Given the description of an element on the screen output the (x, y) to click on. 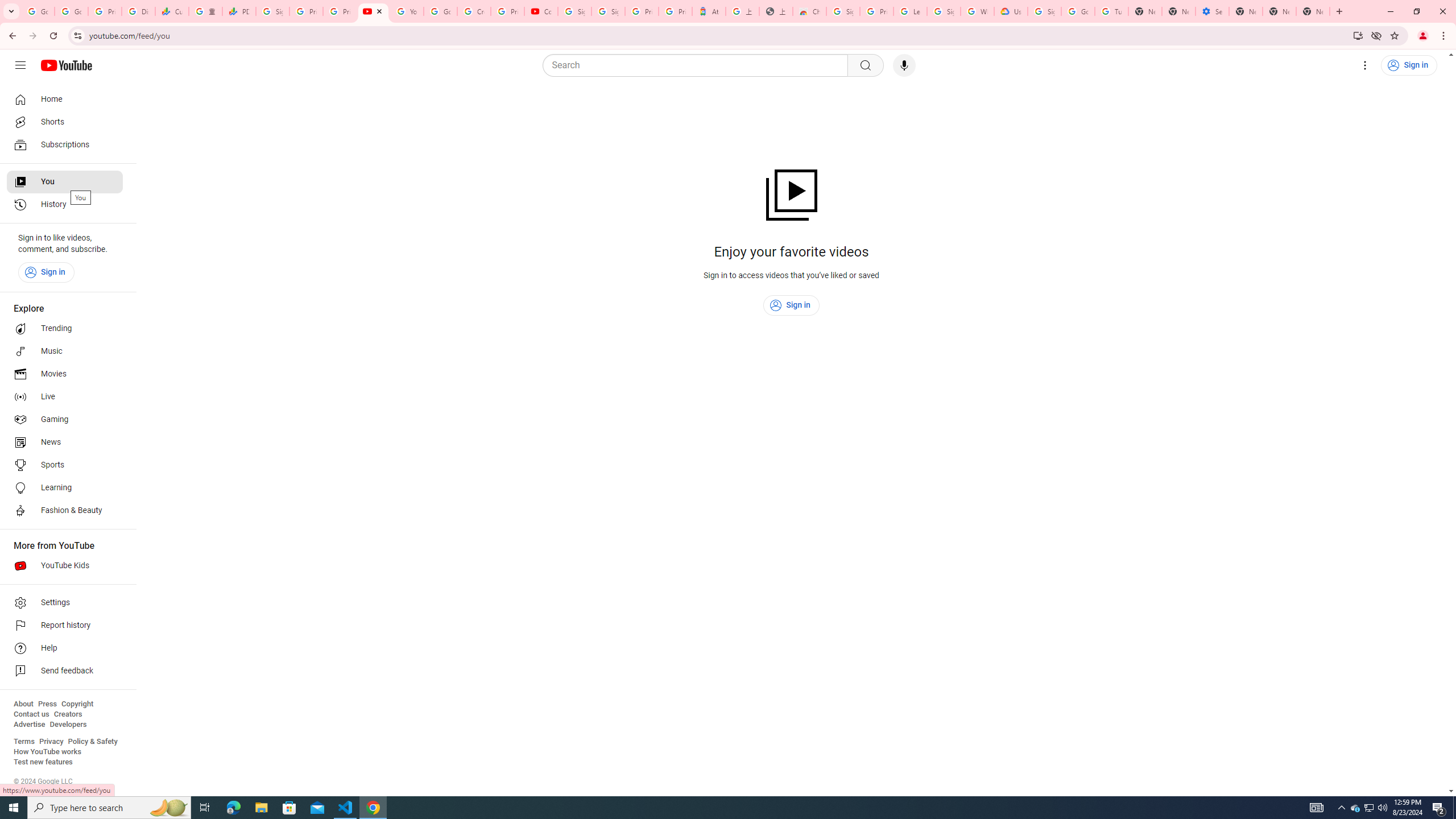
Live (64, 396)
